Given the description of an element on the screen output the (x, y) to click on. 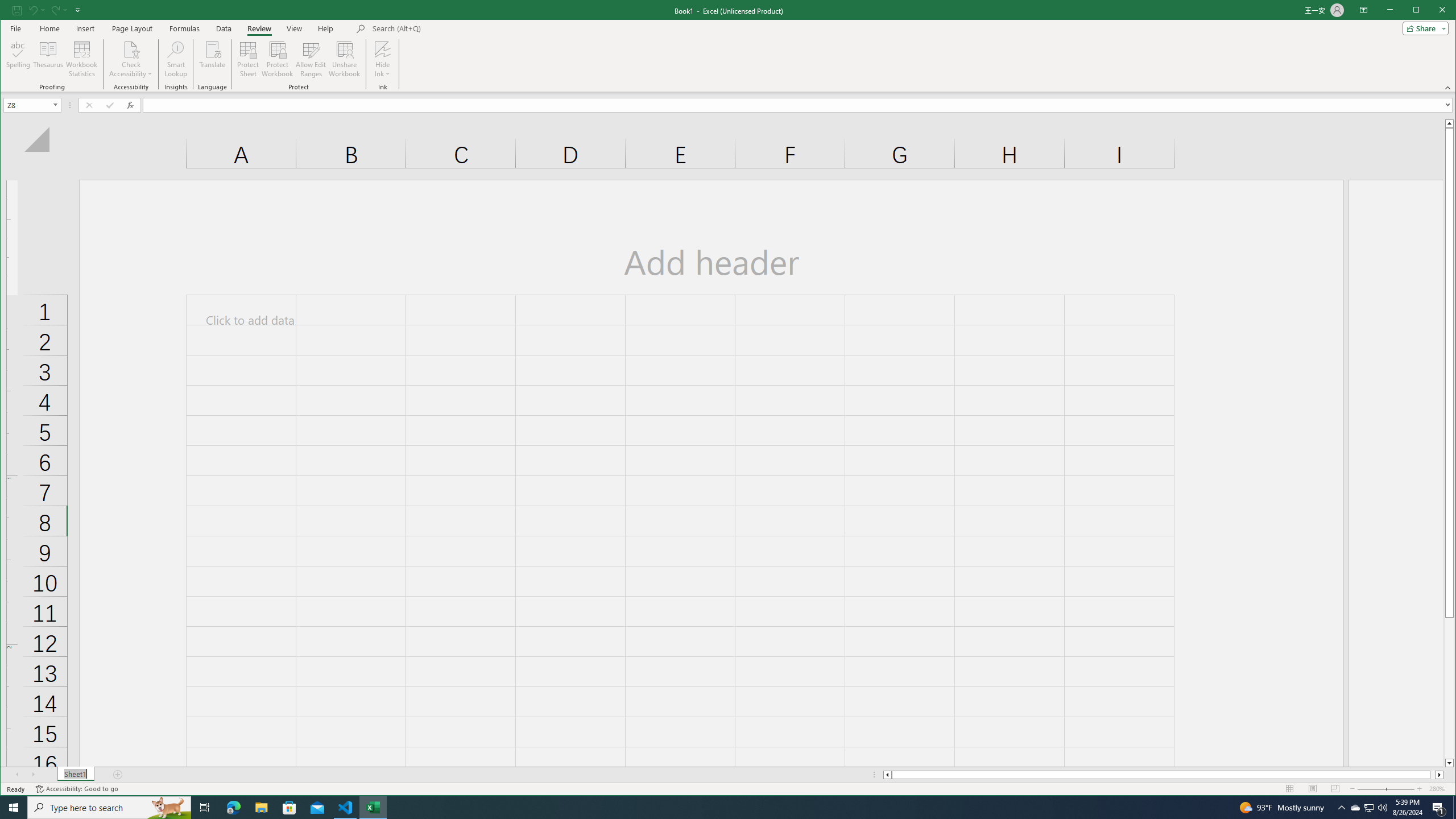
Page down (1449, 687)
Start (13, 807)
Spelling... (18, 59)
Visual Studio Code - 1 running window (345, 807)
Q2790: 100% (1382, 807)
Thesaurus... (48, 59)
Formula Bar (799, 104)
Class: MsoCommandBar (728, 45)
Check Accessibility (130, 48)
